Given the description of an element on the screen output the (x, y) to click on. 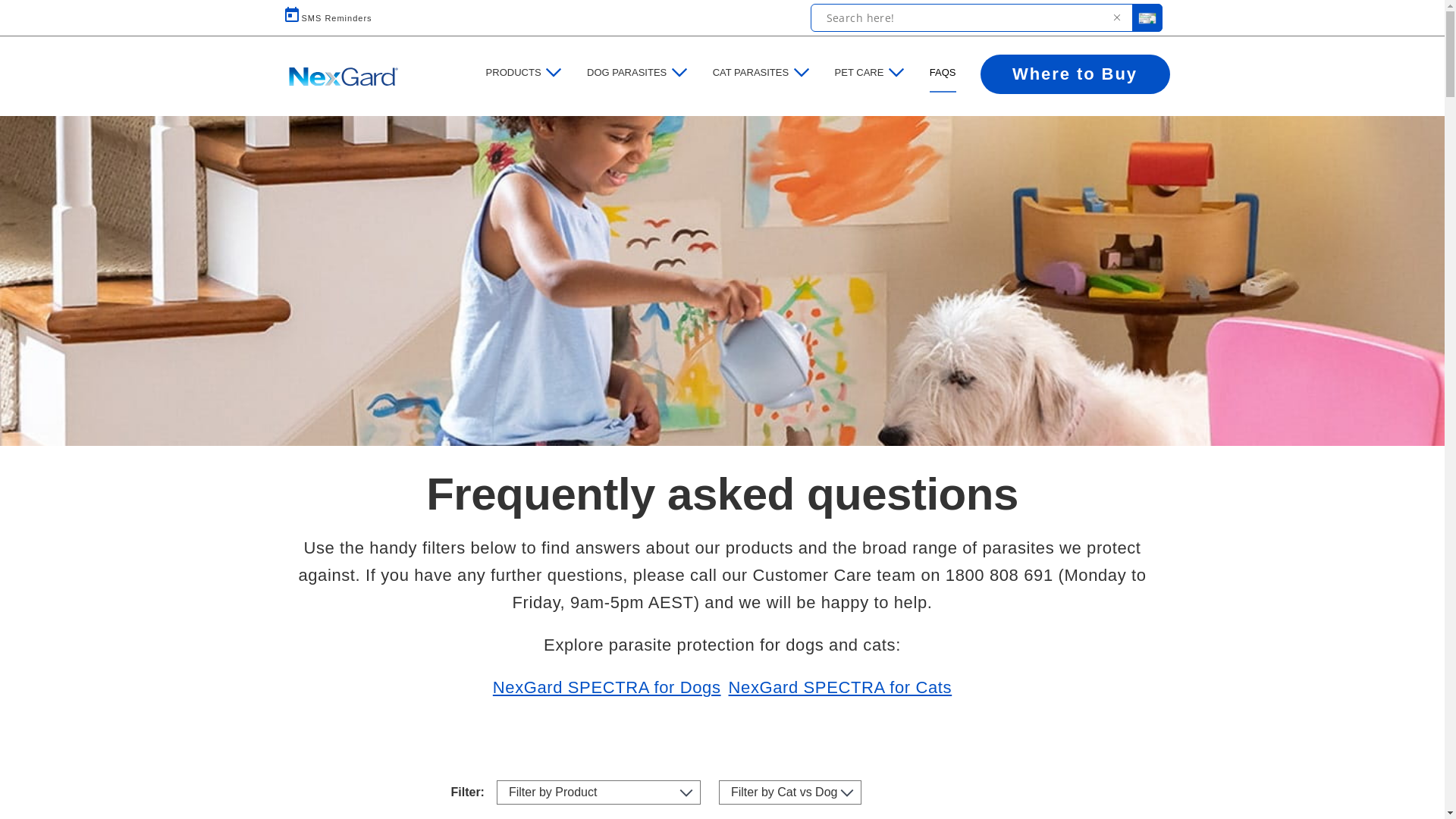
PRODUCTS Element type: text (513, 72)
CAT PARASITES Element type: text (750, 72)
SMS Reminders Element type: text (326, 17)
NexGard SPECTRA for Dogs Element type: text (606, 687)
FAQS Element type: text (954, 72)
Skip to main content Element type: text (0, 0)
NexGard SPECTRA for Cats Element type: text (840, 687)
Apply Element type: text (21, 7)
Where to Buy Element type: text (1074, 74)
PET CARE Element type: text (859, 72)
DOG PARASITES Element type: text (626, 72)
